Given the description of an element on the screen output the (x, y) to click on. 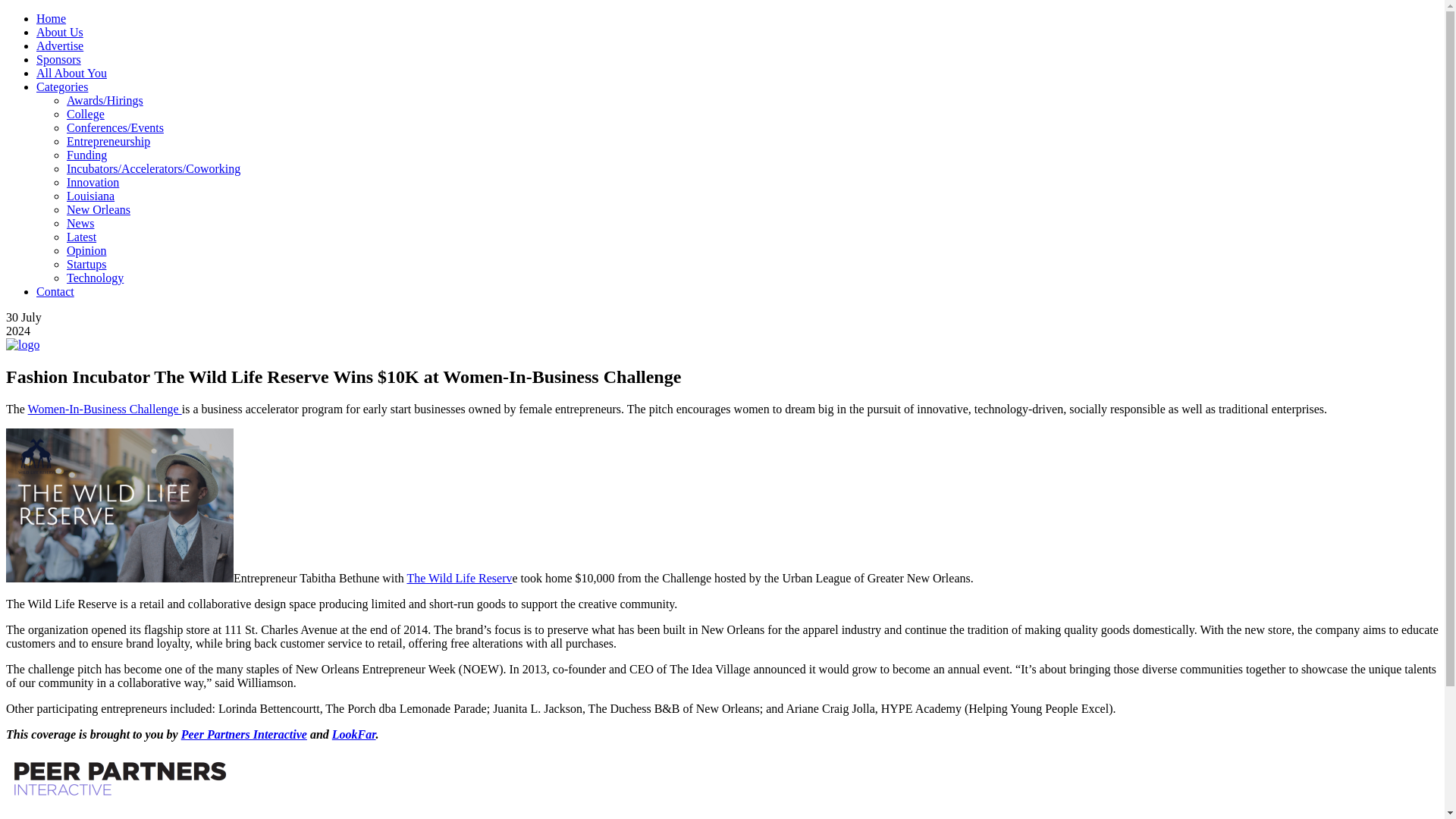
Peer Partners Interactive (243, 734)
Categories (61, 86)
New Orleans (98, 209)
Entrepreneurship (107, 141)
Contact (55, 291)
Funding (86, 154)
College (85, 113)
News (80, 223)
Latest (81, 236)
All About You (71, 72)
Home (50, 18)
Technology (94, 277)
Women-In-Business Challenge (104, 408)
Startups (86, 264)
LookFar (353, 734)
